Given the description of an element on the screen output the (x, y) to click on. 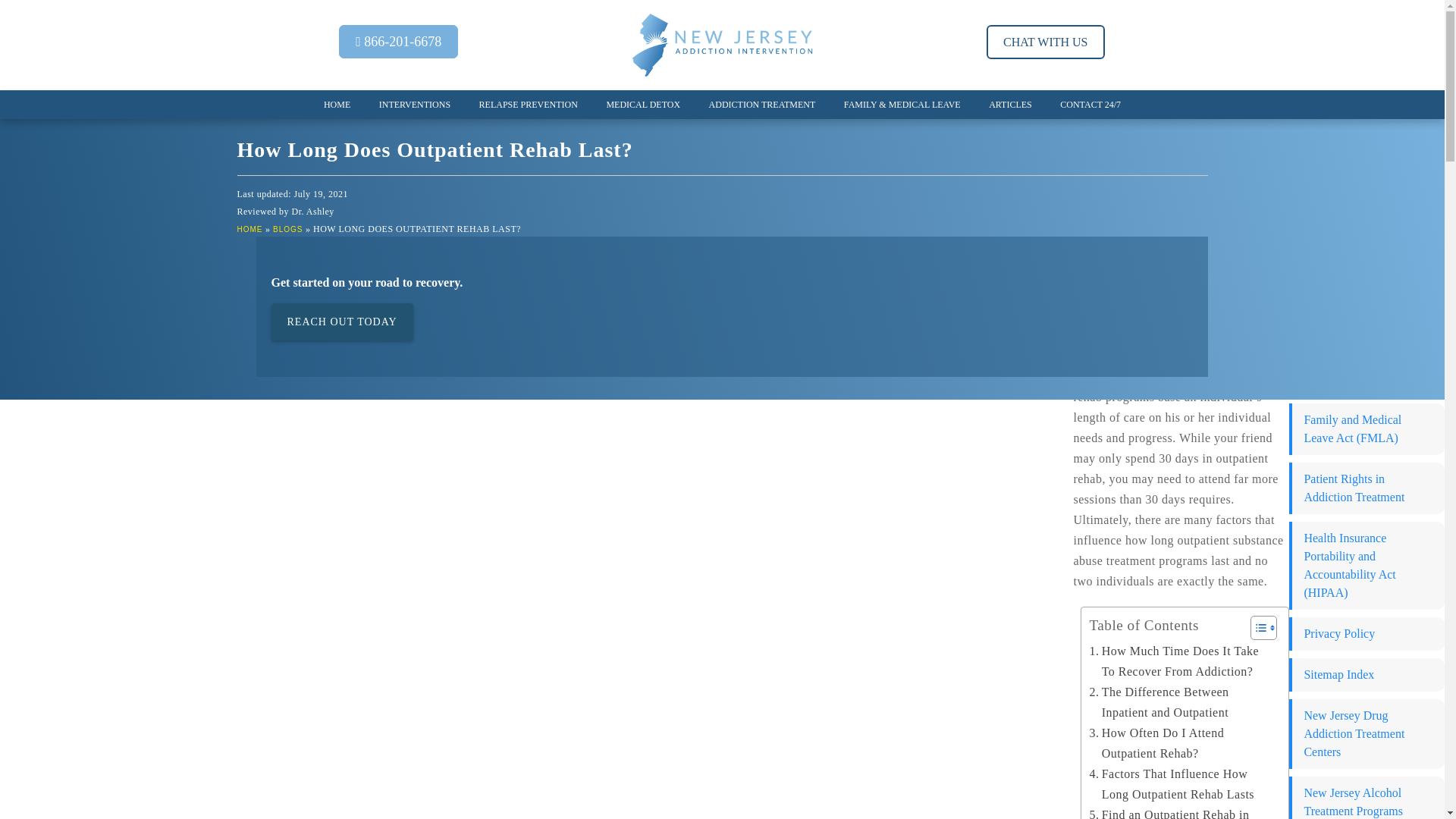
HOME (248, 229)
RELAPSE PREVENTION (528, 104)
MEDICAL DETOX (642, 104)
CHAT WITH US (1045, 41)
How Often Do I Attend Outpatient Rehab? (1180, 742)
BLOGS (287, 229)
The Difference Between Inpatient and Outpatient (1180, 701)
866-201-6678 (398, 41)
INTERVENTIONS (414, 104)
HOME (337, 104)
ARTICLES (1009, 104)
Find an Outpatient Rehab in New Jersey Today (1180, 811)
Factors That Influence How Long Outpatient Rehab Lasts (1180, 783)
ADDICTION TREATMENT (762, 104)
How Much Time Does It Take To Recover From Addiction? (1180, 660)
